Given the description of an element on the screen output the (x, y) to click on. 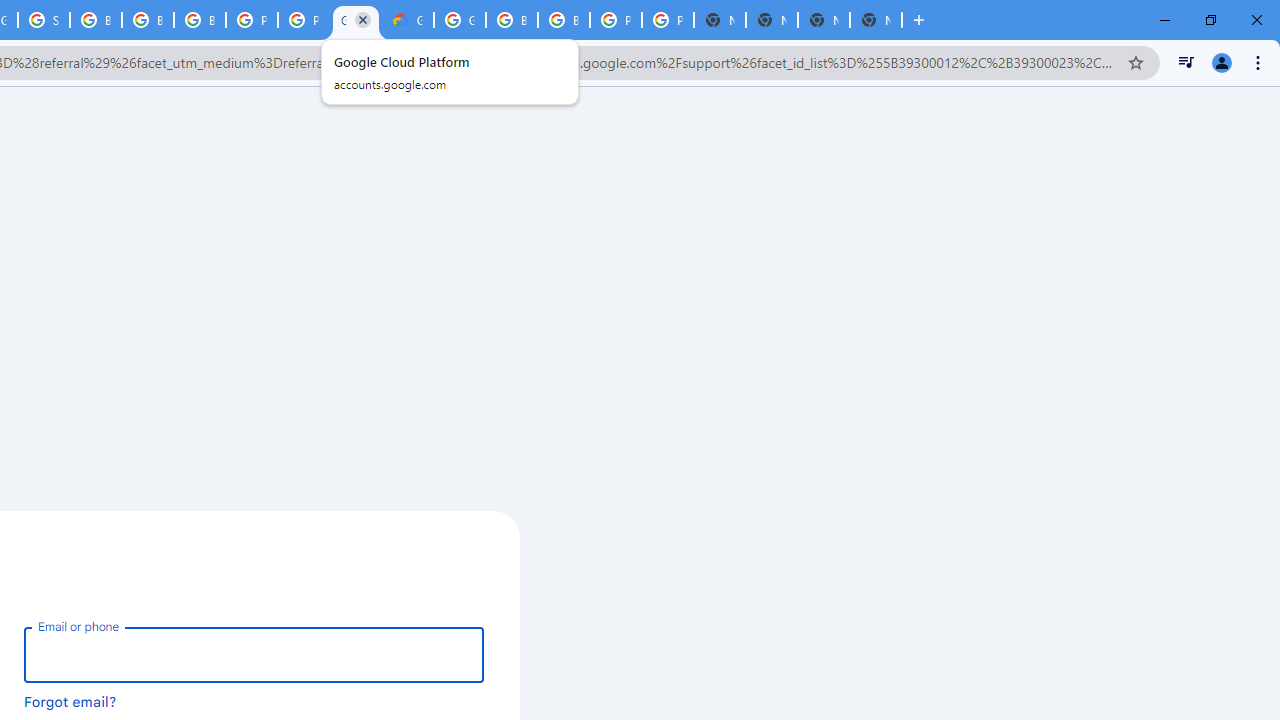
Email or phone (253, 654)
Browse Chrome as a guest - Computer - Google Chrome Help (147, 20)
Google Cloud Estimate Summary (407, 20)
